Given the description of an element on the screen output the (x, y) to click on. 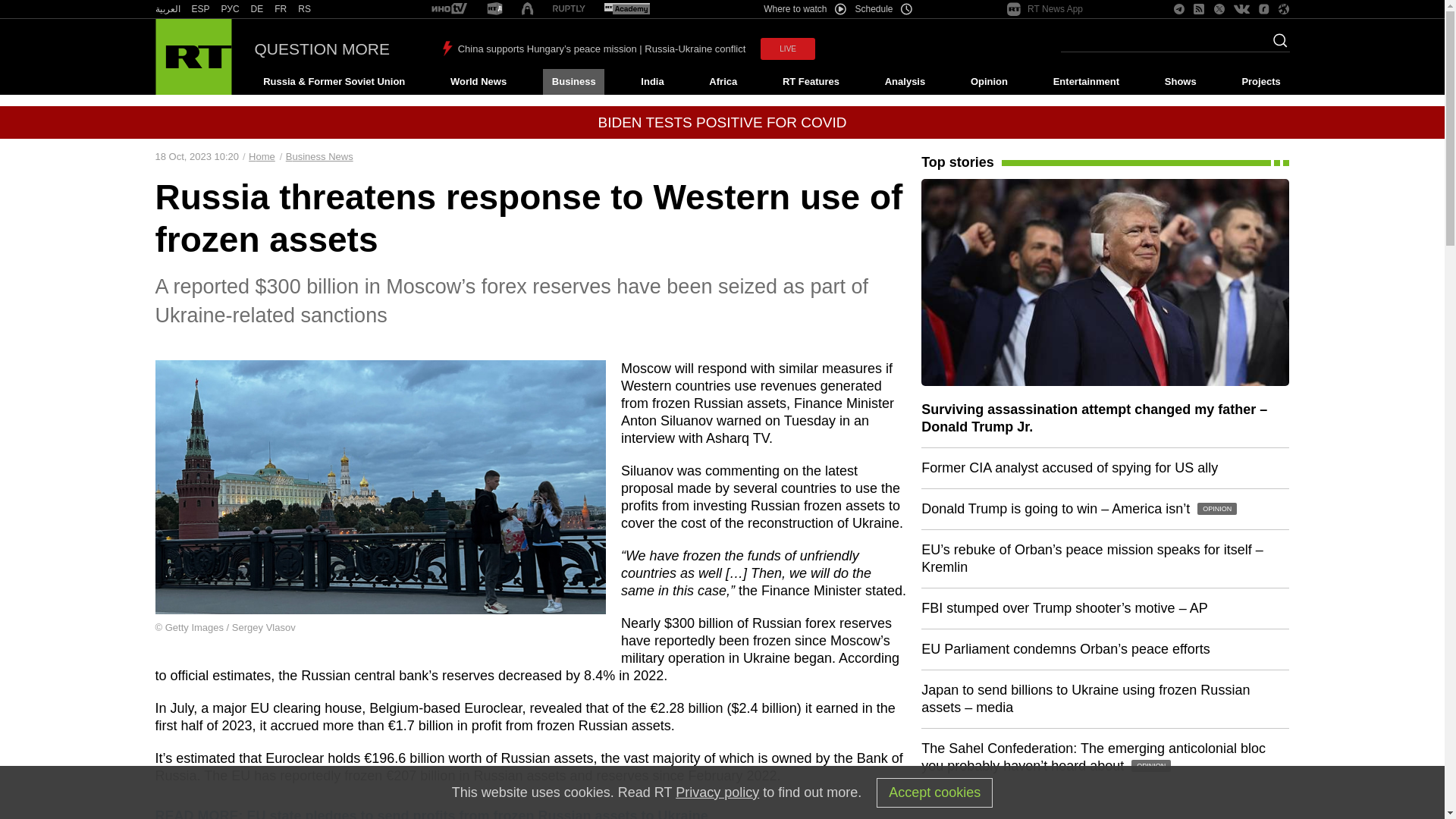
Opinion (988, 81)
RT  (304, 9)
RT  (448, 9)
RT  (166, 9)
RT  (569, 8)
Shows (1180, 81)
RS (304, 9)
Schedule (884, 9)
Where to watch (803, 9)
RT  (199, 9)
RT  (494, 9)
RT News App (1045, 9)
Business (573, 81)
ESP (199, 9)
DE (256, 9)
